Given the description of an element on the screen output the (x, y) to click on. 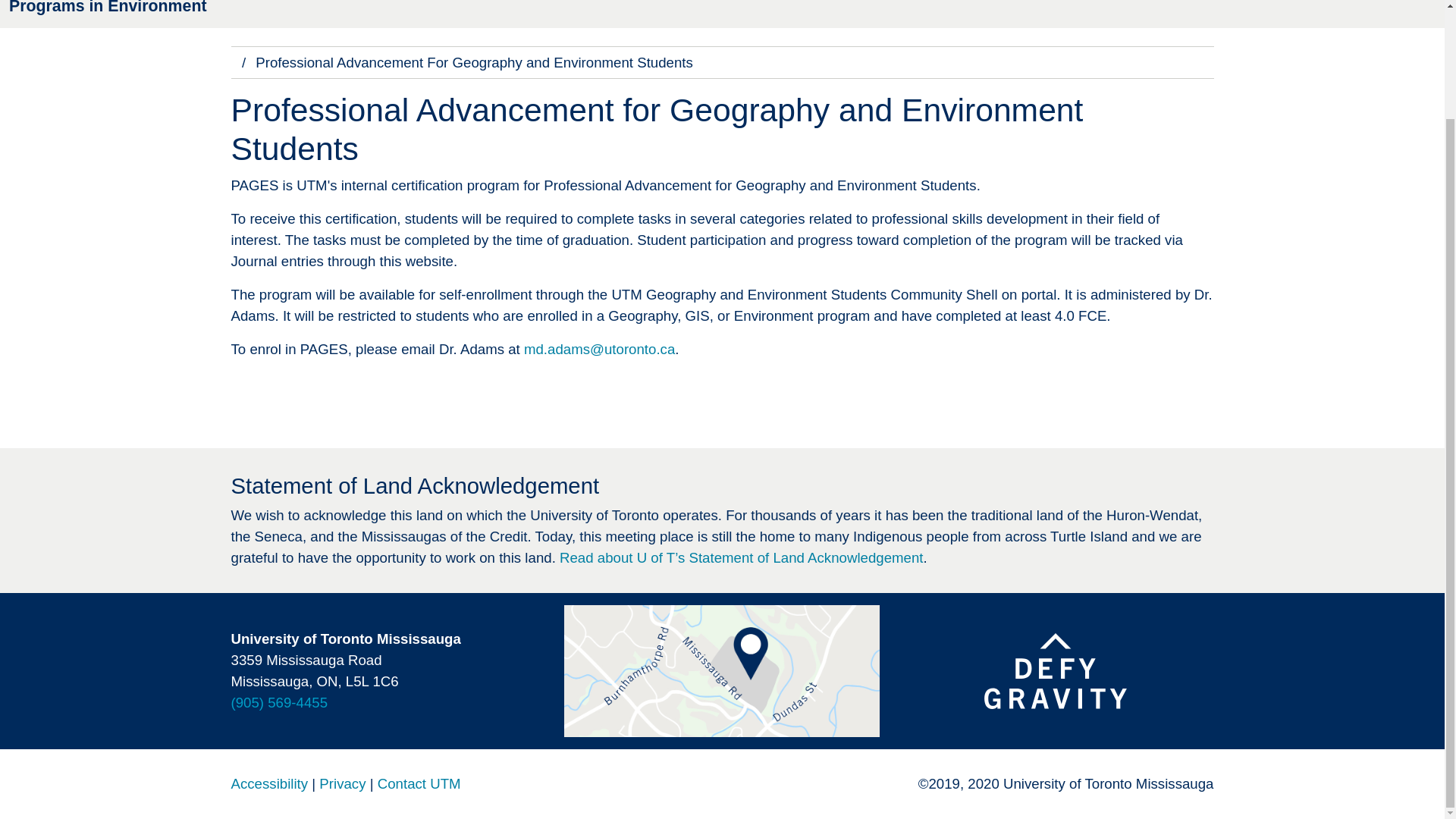
Programs in Environment (107, 7)
